Given the description of an element on the screen output the (x, y) to click on. 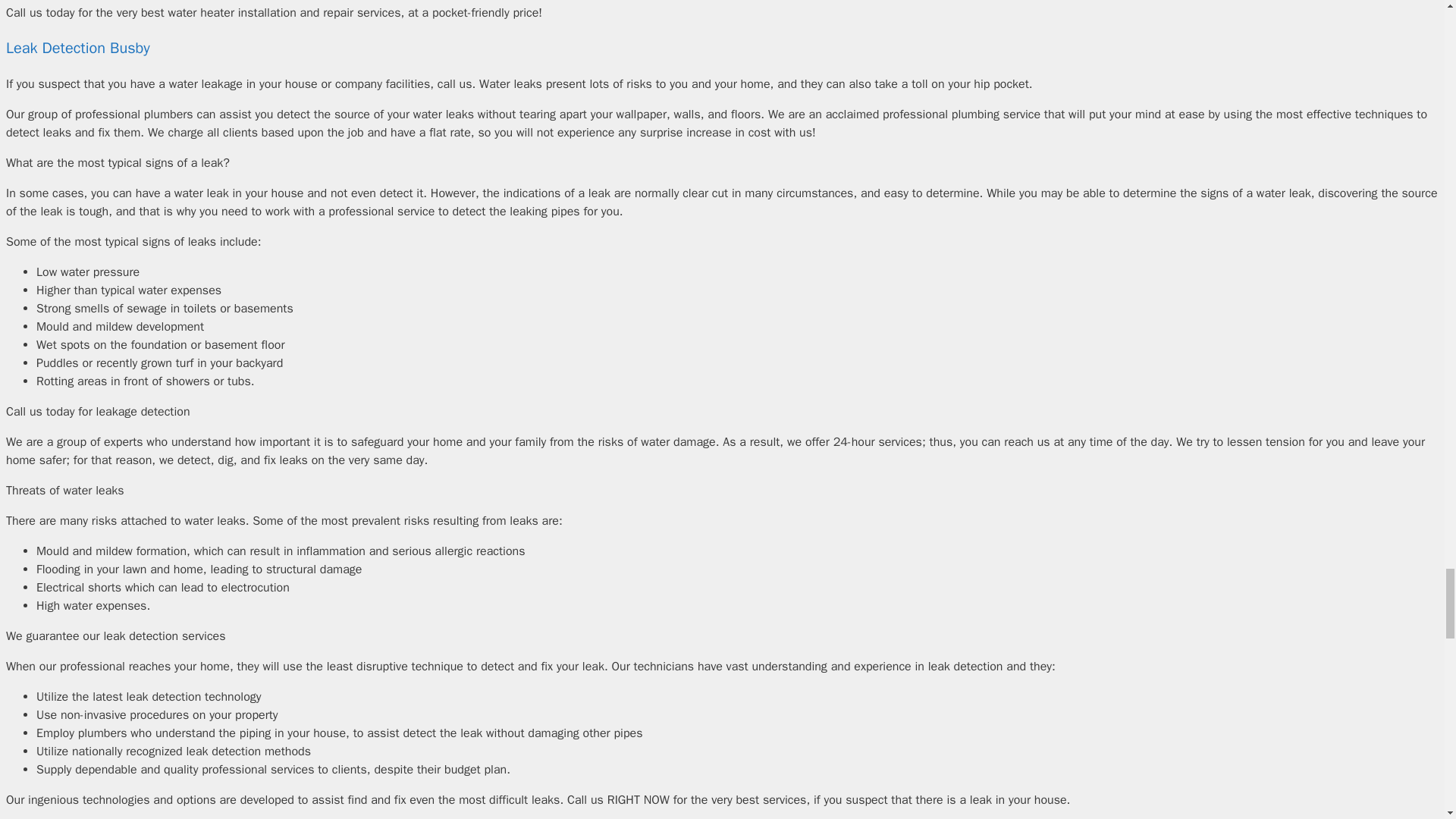
Leak Detection Busby (77, 47)
